Given the description of an element on the screen output the (x, y) to click on. 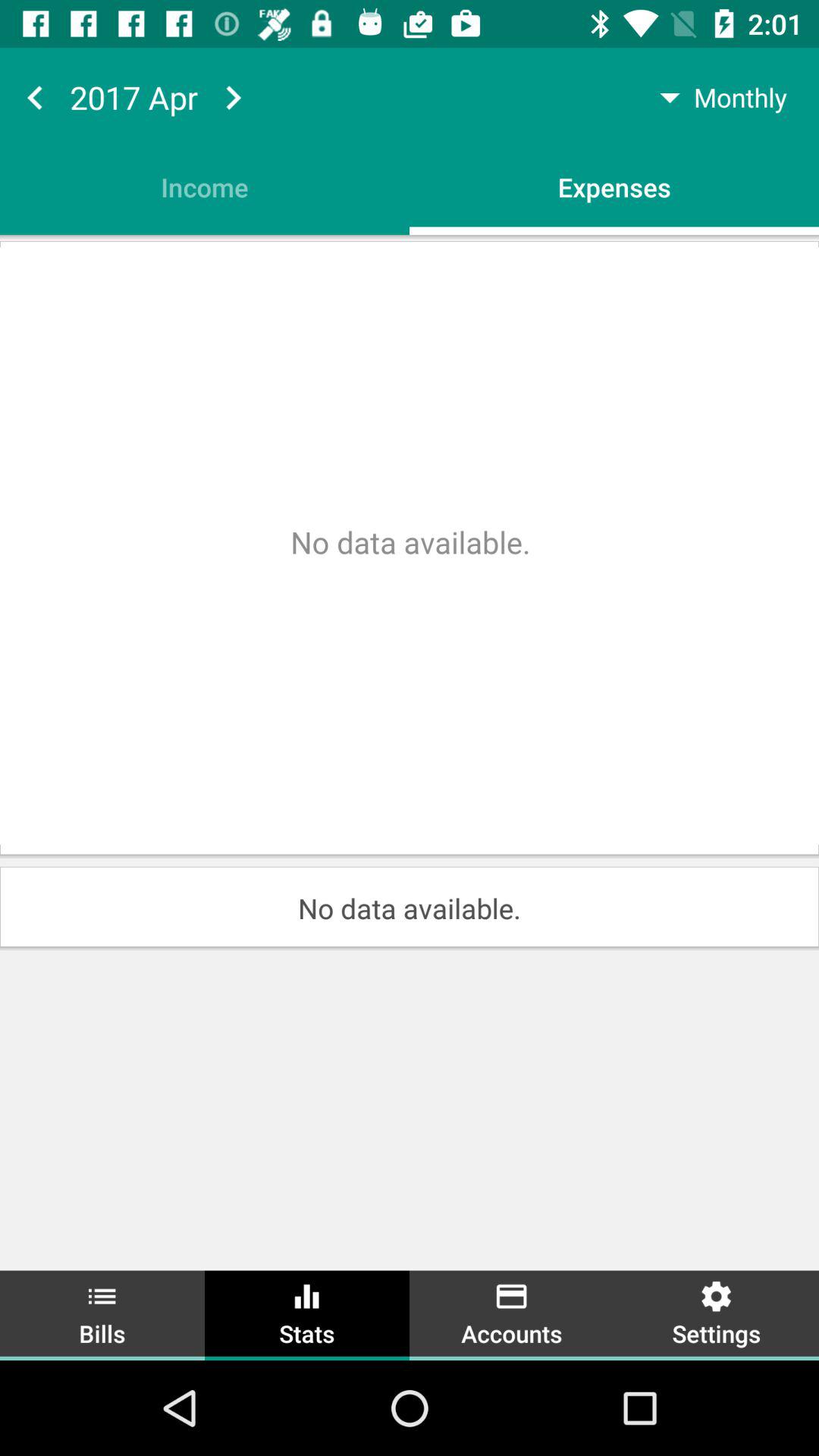
go to previous (34, 97)
